Given the description of an element on the screen output the (x, y) to click on. 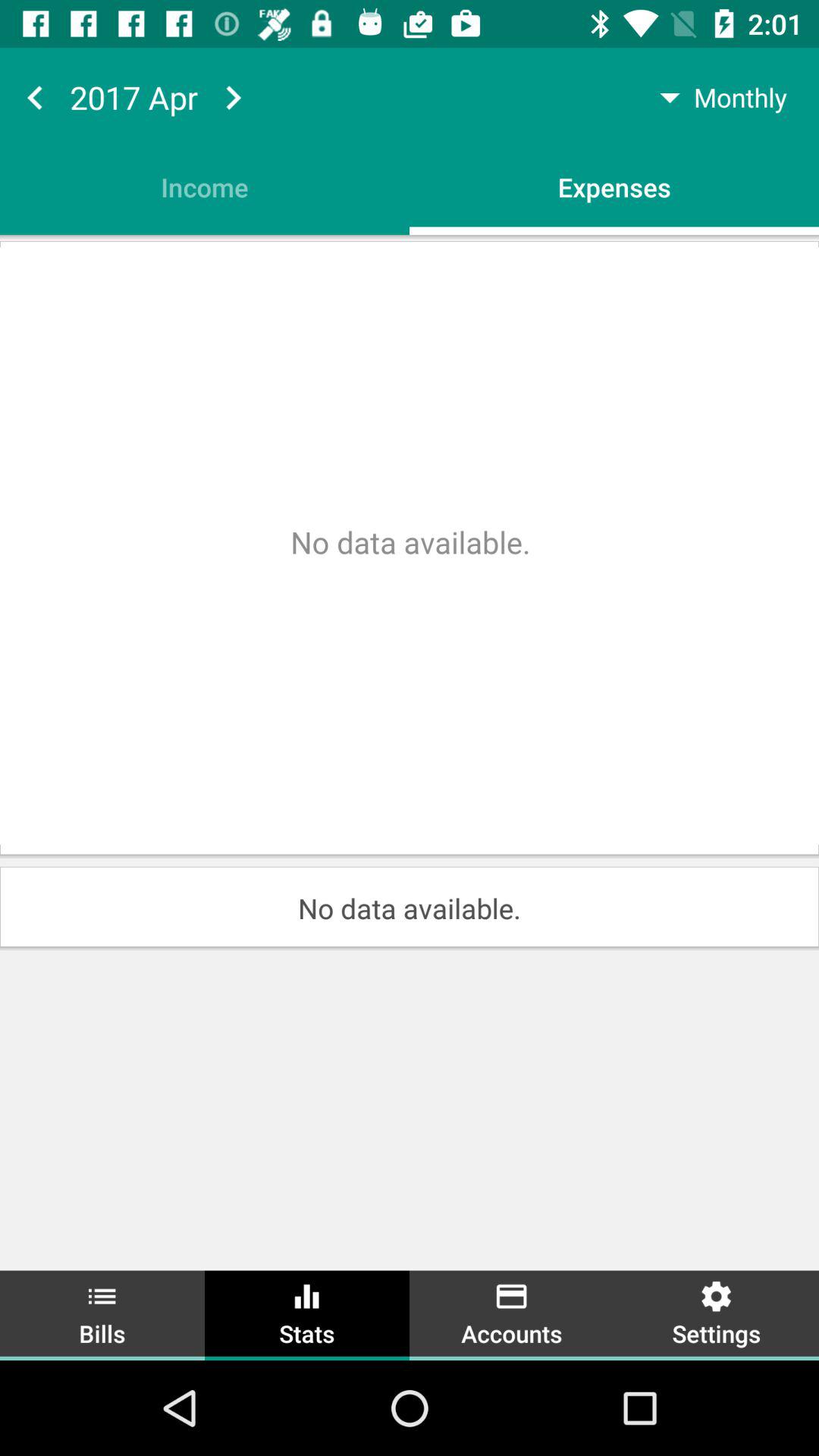
go to previous (34, 97)
